Given the description of an element on the screen output the (x, y) to click on. 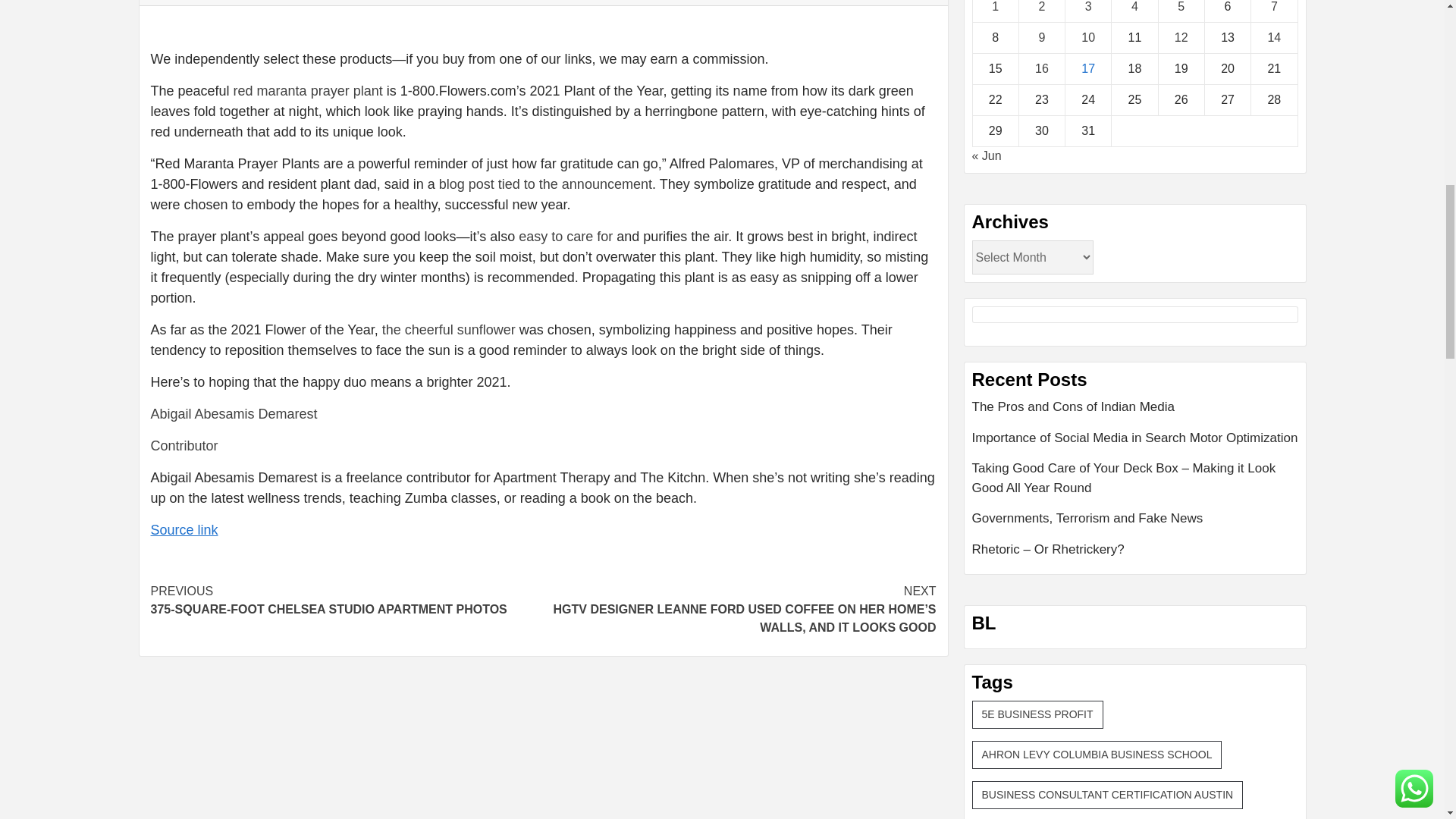
Source link (182, 529)
easy to care for (565, 236)
blog post tied to the announcement (545, 183)
10 (542, 430)
the cheerful sunflower (346, 600)
red maranta prayer plant (1087, 37)
